Given the description of an element on the screen output the (x, y) to click on. 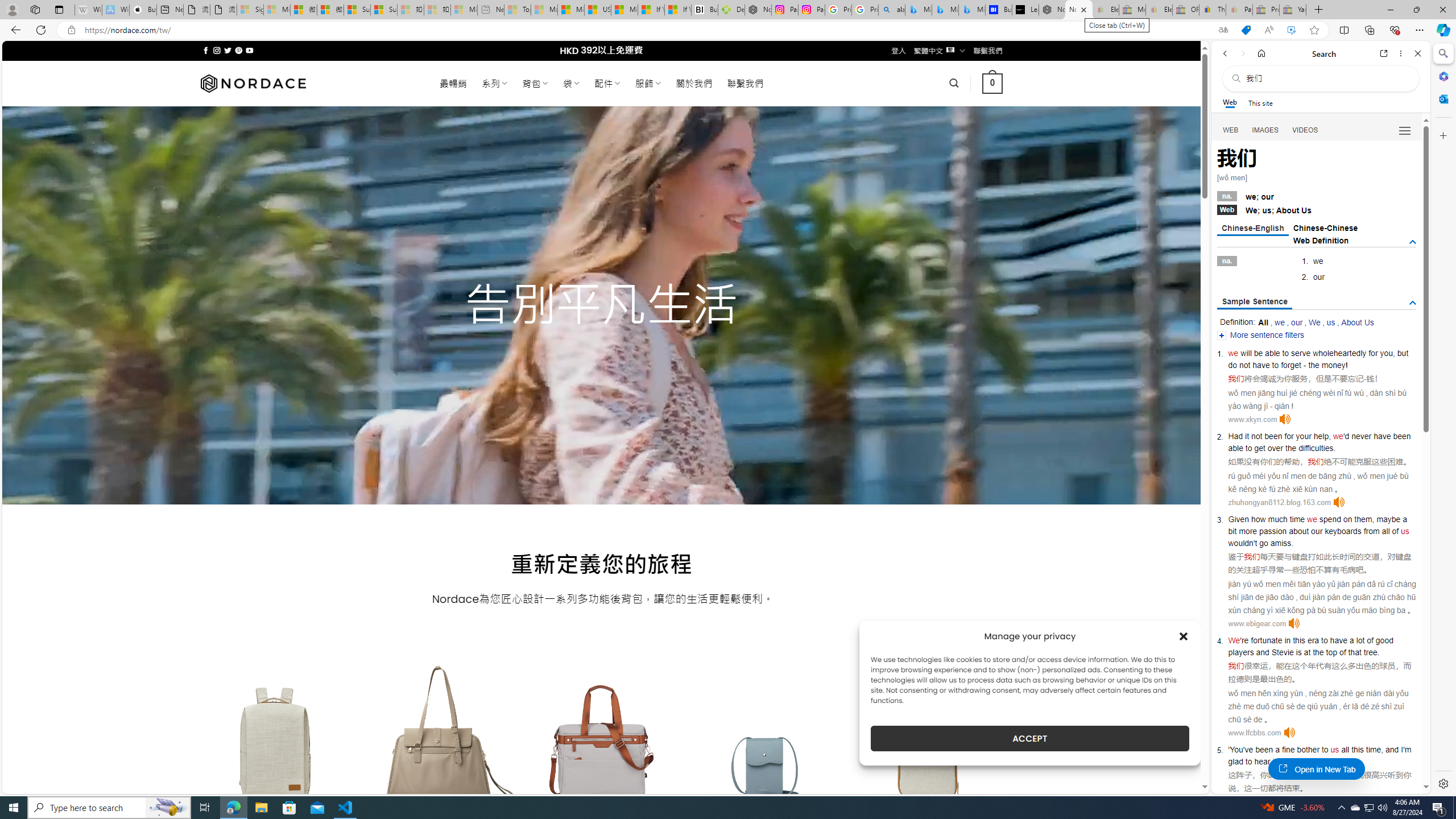
time (1297, 519)
This site has coupons! Shopping in Microsoft Edge (1245, 29)
top (1331, 651)
We (1233, 640)
and (1262, 651)
